Given the description of an element on the screen output the (x, y) to click on. 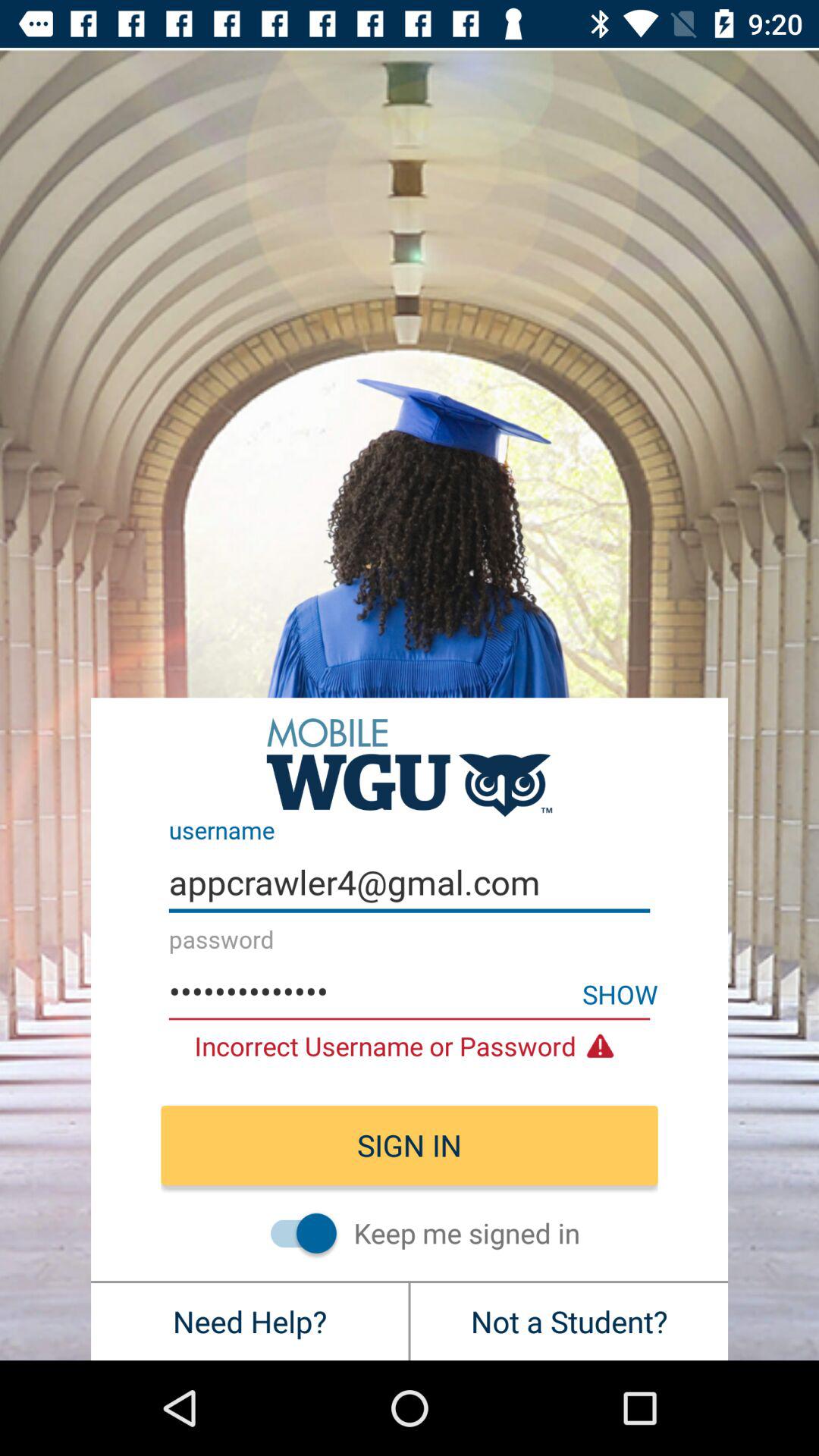
press the need help? at the bottom left corner (249, 1321)
